Given the description of an element on the screen output the (x, y) to click on. 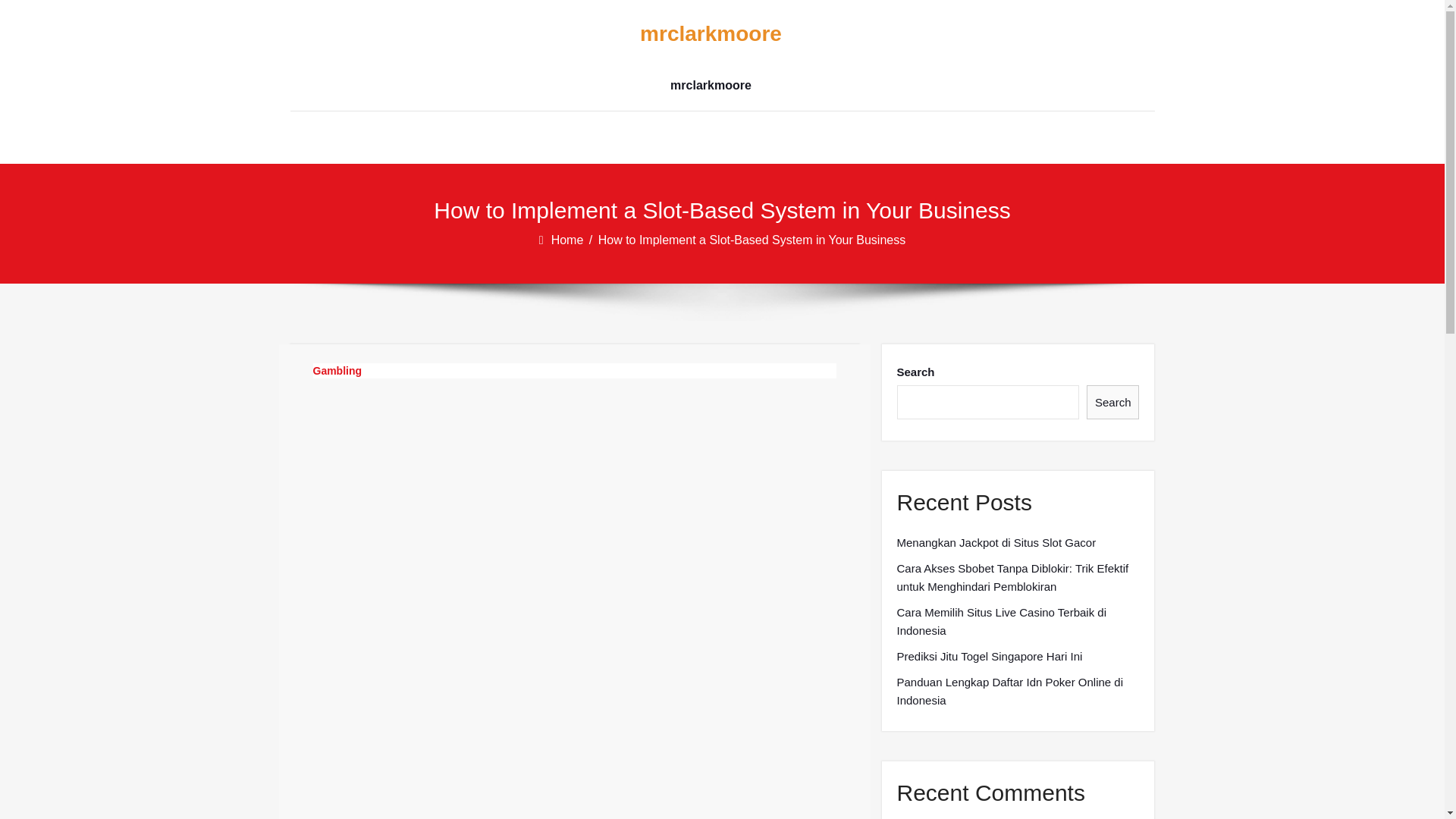
adminss (360, 470)
mrclarkmoore (710, 34)
Menangkan Jackpot di Situs Slot Gacor (996, 542)
Prediksi Jitu Togel Singapore Hari Ini (988, 656)
Panduan Lengkap Daftar Idn Poker Online di Indonesia (1017, 691)
Search (1113, 401)
August 4, 2022 (459, 470)
Gambling (337, 370)
Cara Memilih Situs Live Casino Terbaik di Indonesia (1017, 621)
Home (568, 239)
